Given the description of an element on the screen output the (x, y) to click on. 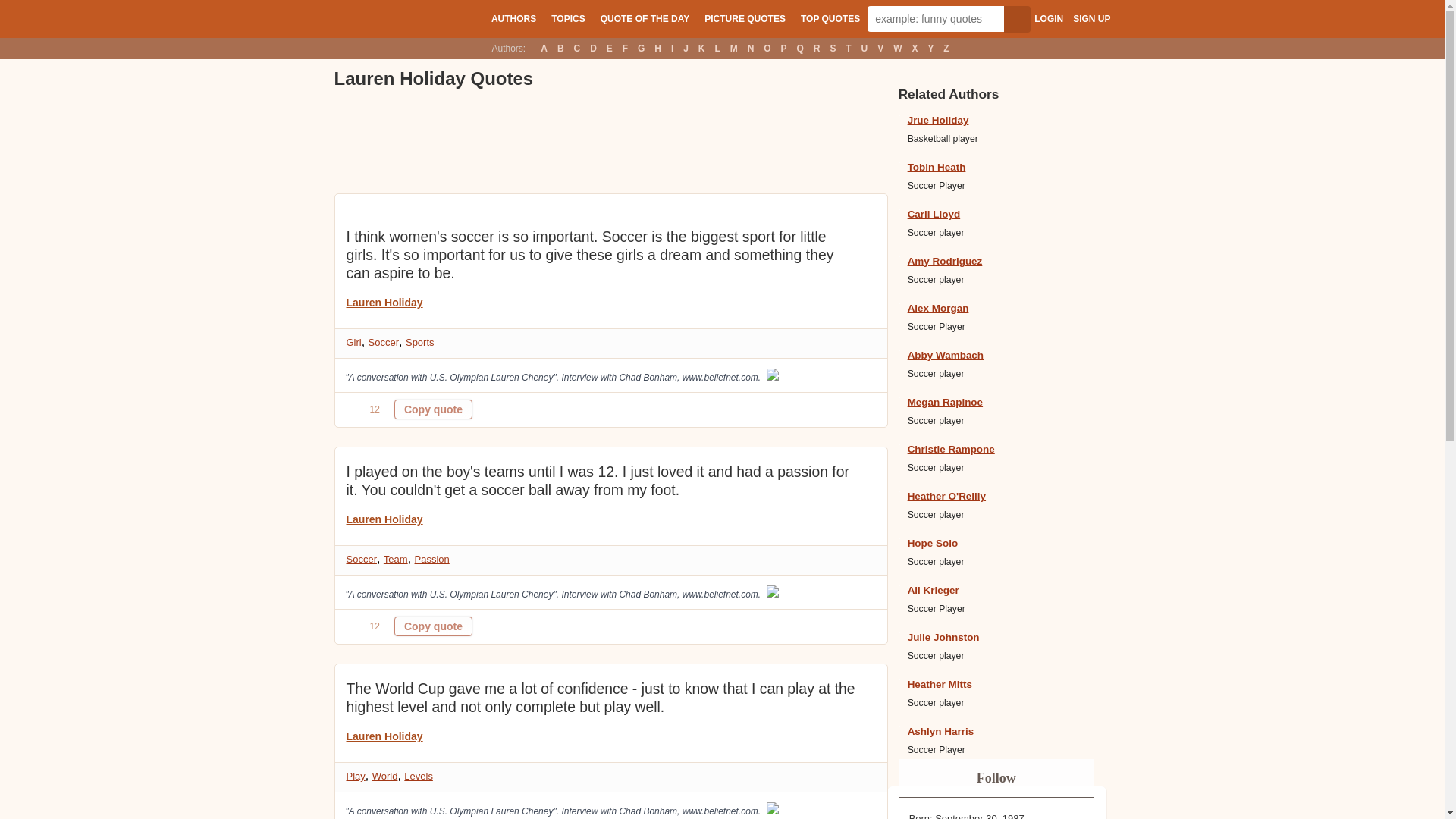
TOP QUOTES (830, 18)
Quote is copied (432, 409)
SIGN UP (1091, 18)
PICTURE QUOTES (745, 18)
Quote is copied (432, 626)
QUOTE OF THE DAY (644, 18)
TOPICS (567, 18)
AUTHORS (513, 18)
LOGIN (1047, 18)
